Given the description of an element on the screen output the (x, y) to click on. 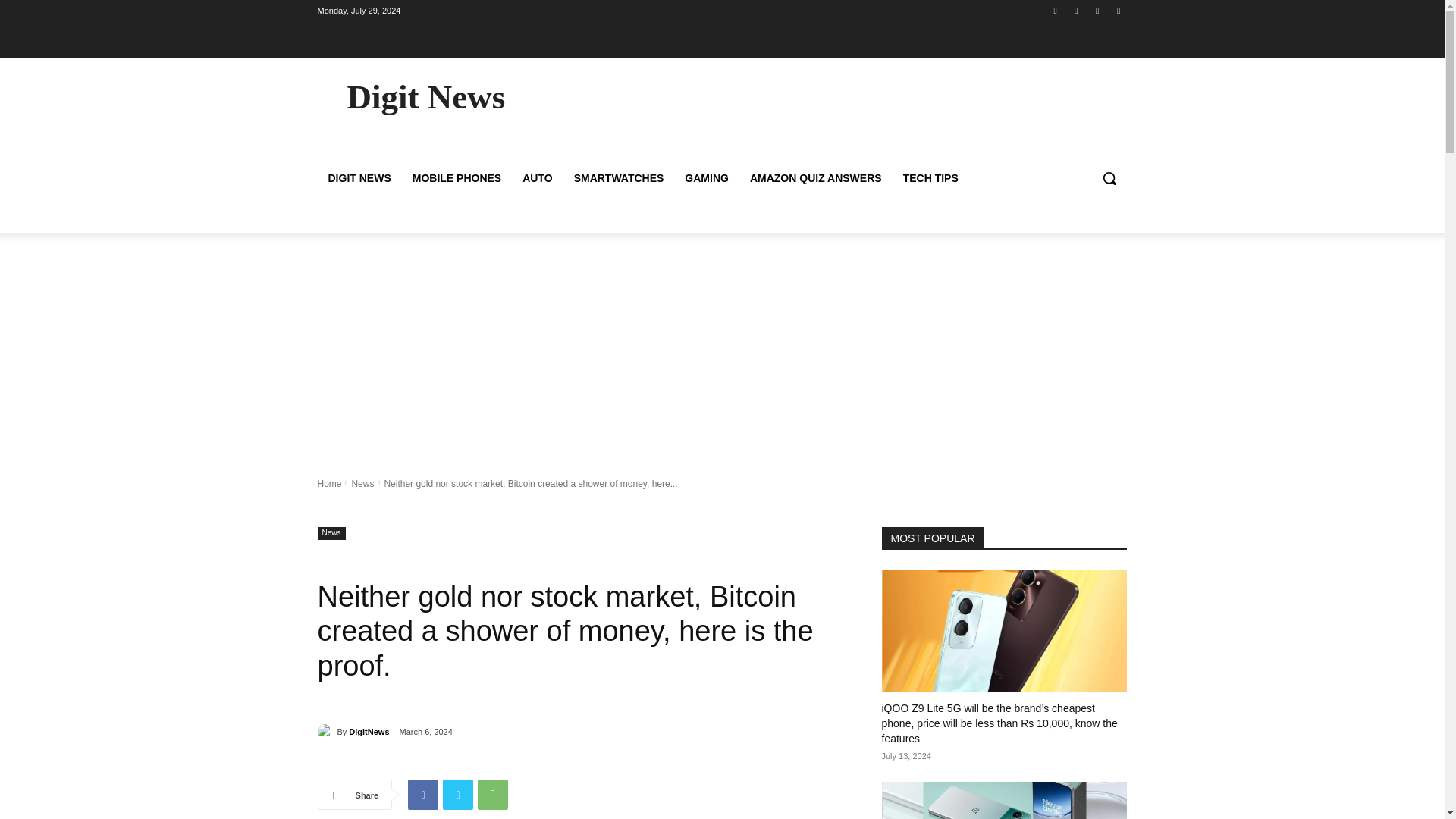
DigitNews (326, 731)
Facebook (422, 794)
Facebook (1055, 9)
Instagram (1075, 9)
DigitNews (368, 731)
Digit News (425, 97)
Youtube (1117, 9)
SMARTWATCHES (619, 176)
MOBILE PHONES (456, 176)
News (331, 532)
GAMING (706, 176)
AUTO (537, 176)
View all posts in News (362, 482)
DIGIT NEWS (359, 176)
